Given the description of an element on the screen output the (x, y) to click on. 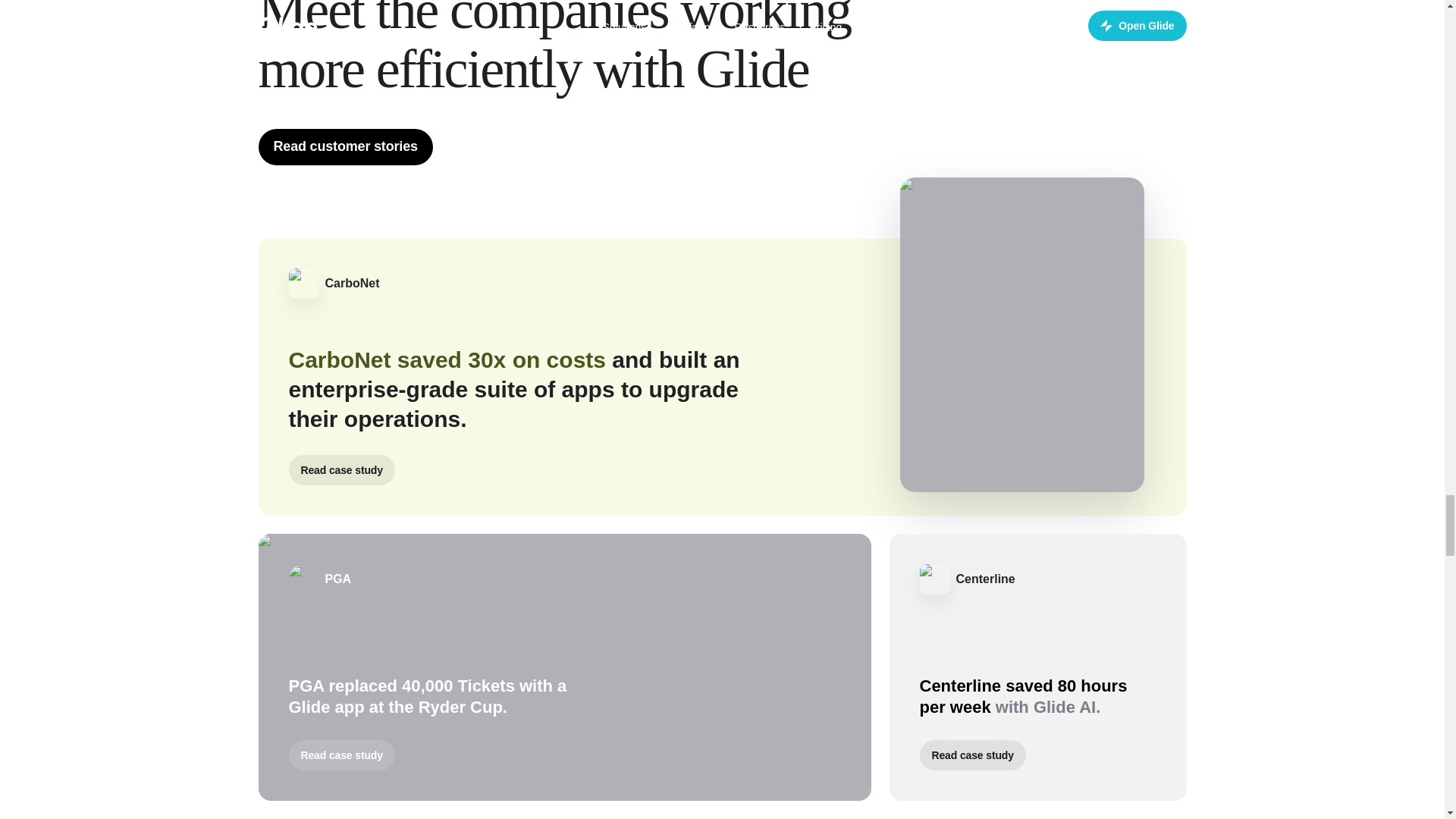
Read case study (971, 755)
Read case study (341, 470)
Read customer stories (344, 146)
Read case study (341, 755)
